Given the description of an element on the screen output the (x, y) to click on. 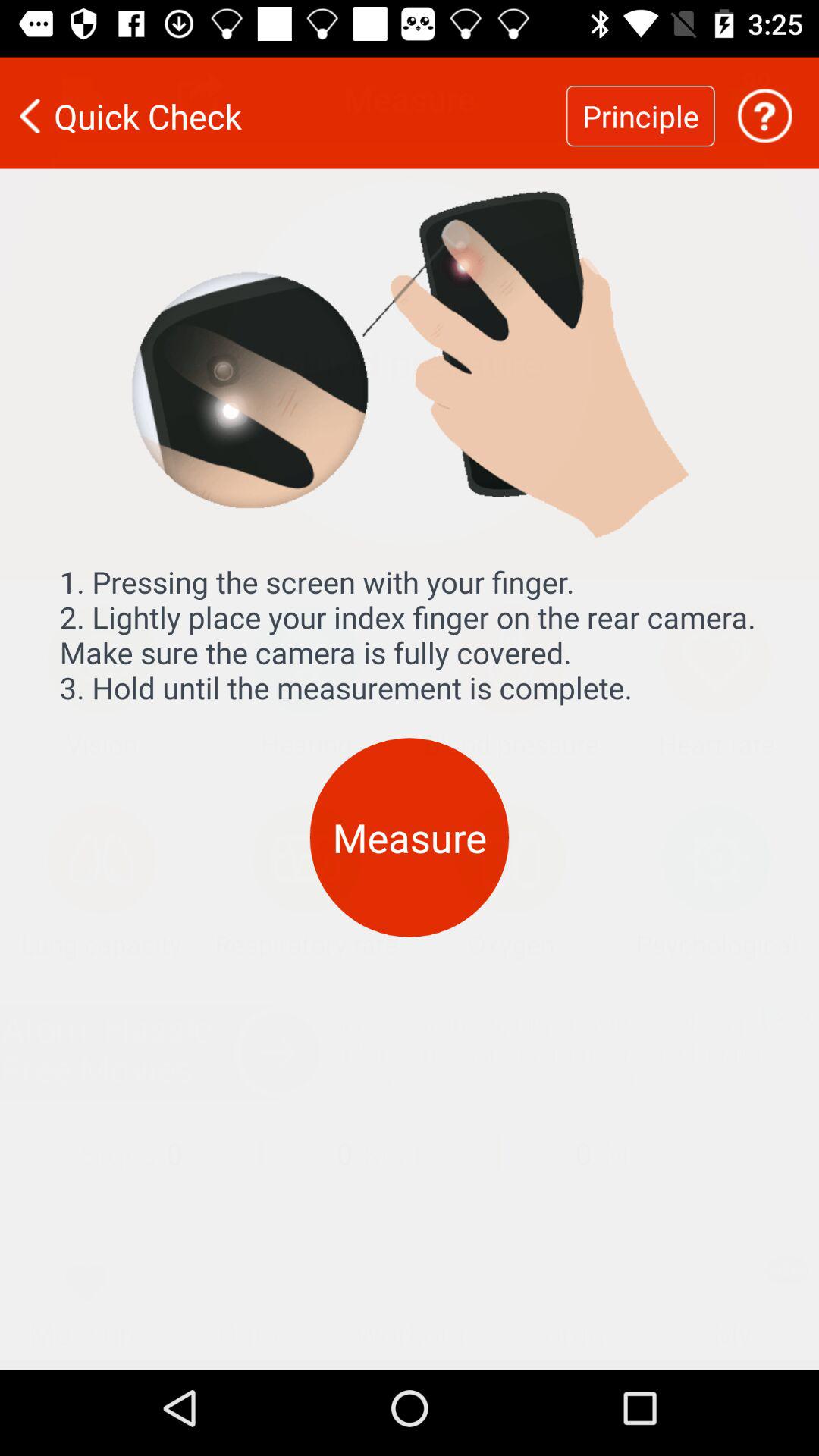
jump until the measure (409, 827)
